Given the description of an element on the screen output the (x, y) to click on. 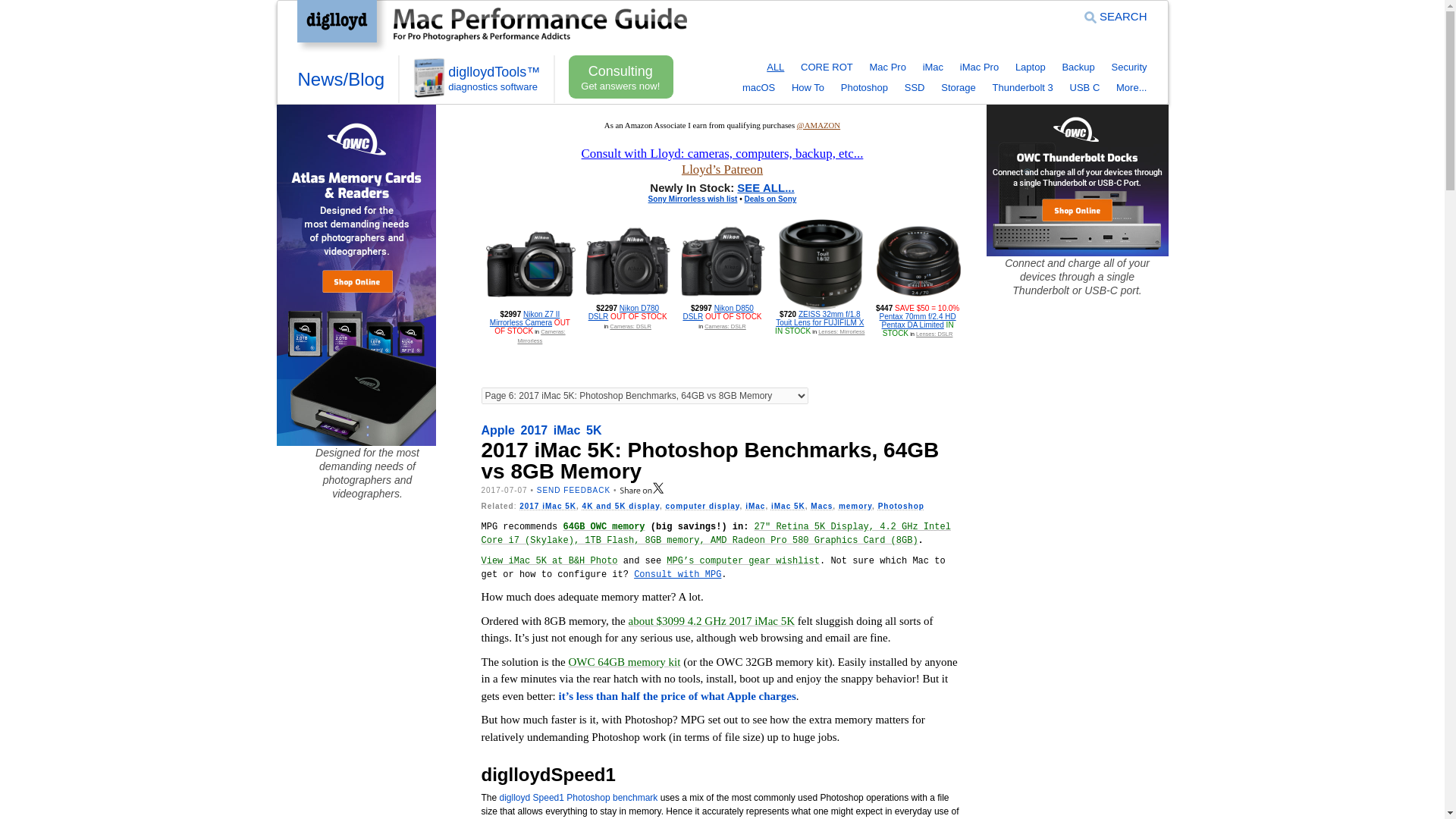
SEARCH (1115, 15)
Consult with Lloyd: cameras, computers, backup, etc... (721, 153)
iMac (933, 66)
Sony Mirrorless wish list (692, 198)
Laptop (1029, 66)
Cameras: DSLR (724, 326)
Cameras: DSLR (630, 326)
More... (1131, 87)
USB C (1085, 87)
SSD (914, 87)
iMac Pro (978, 66)
Nikon D780 DSLR (623, 312)
Security (1129, 66)
Storage (957, 87)
How To (808, 87)
